Given the description of an element on the screen output the (x, y) to click on. 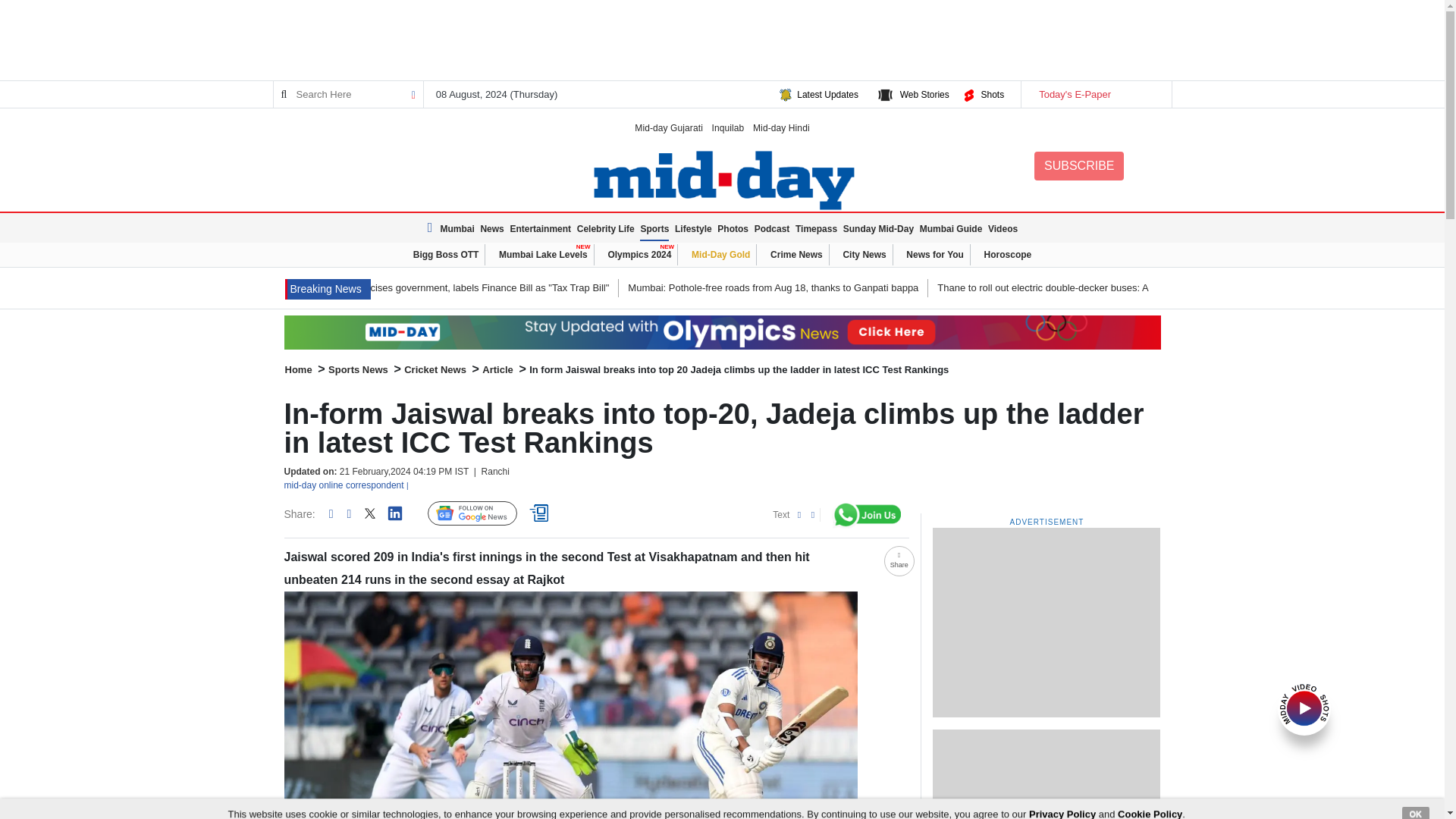
Today's E-Paper (1095, 94)
SUBSCRIBE (1078, 165)
Web Stories (924, 94)
Olympic 2024 (721, 332)
Latest News (432, 227)
Inquilab (728, 127)
Midday Shot Videos (1304, 706)
Quick Reads (541, 513)
Latest Updates (827, 94)
Latest News (328, 289)
